Given the description of an element on the screen output the (x, y) to click on. 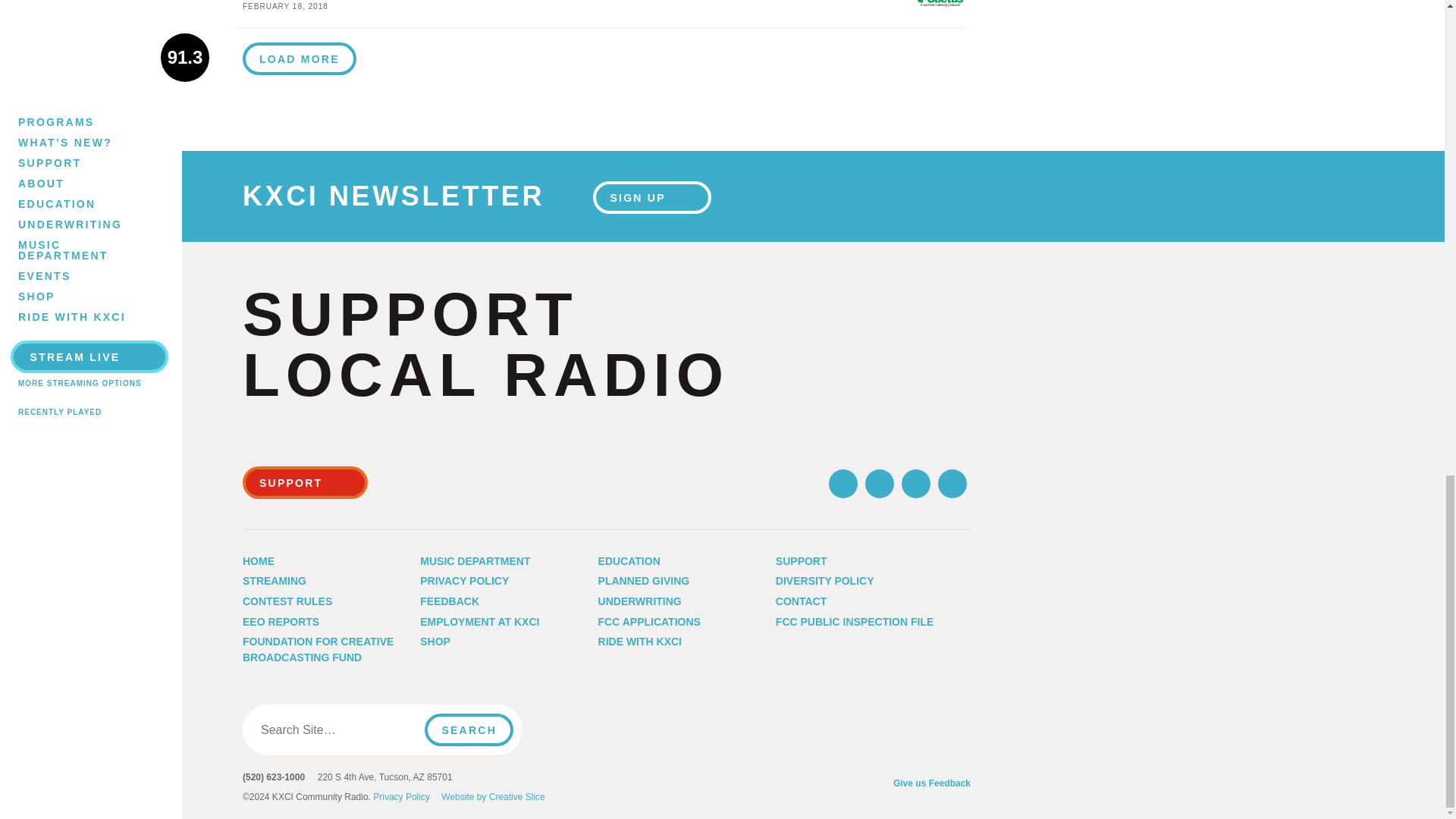
LOAD MORE (299, 57)
LOAD MORE (600, 13)
SUPPORT (299, 58)
SIGN UP (305, 482)
Search (651, 196)
